Given the description of an element on the screen output the (x, y) to click on. 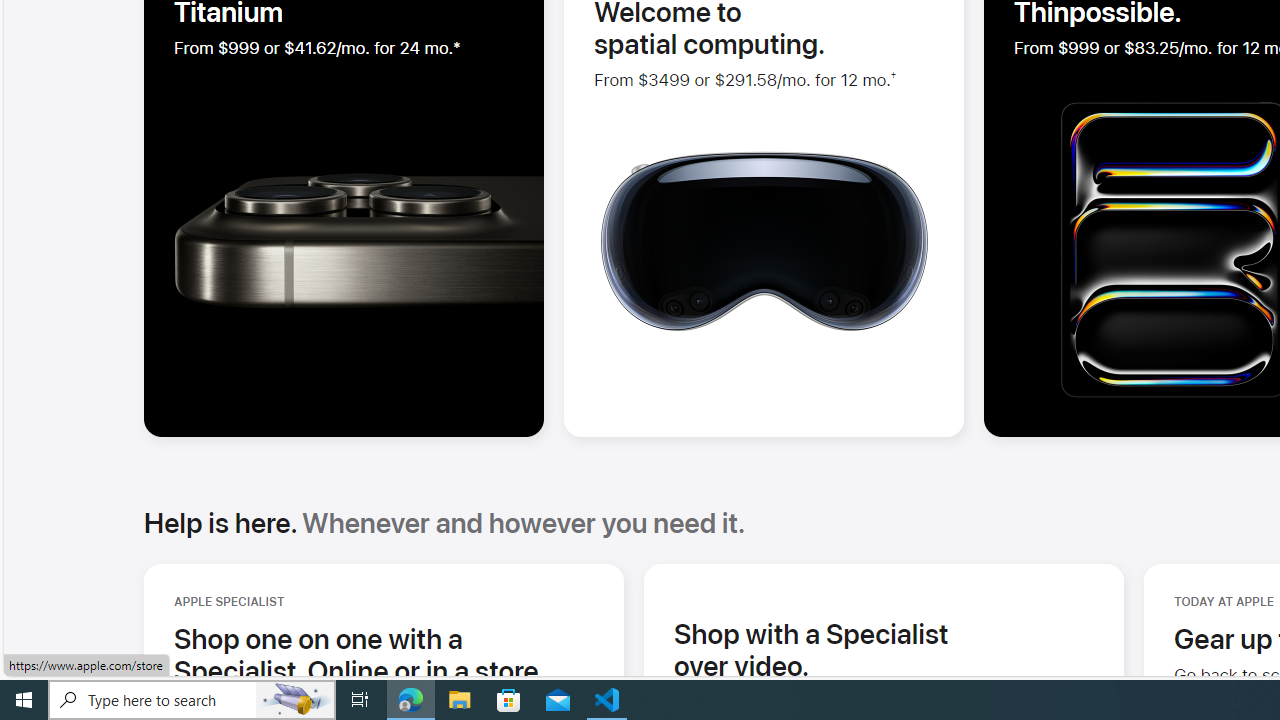
Shop one on one with a Specialist. Online or in a store. (383, 654)
Shop with a Specialist over video. - (Opens in a new window) (811, 649)
